Given the description of an element on the screen output the (x, y) to click on. 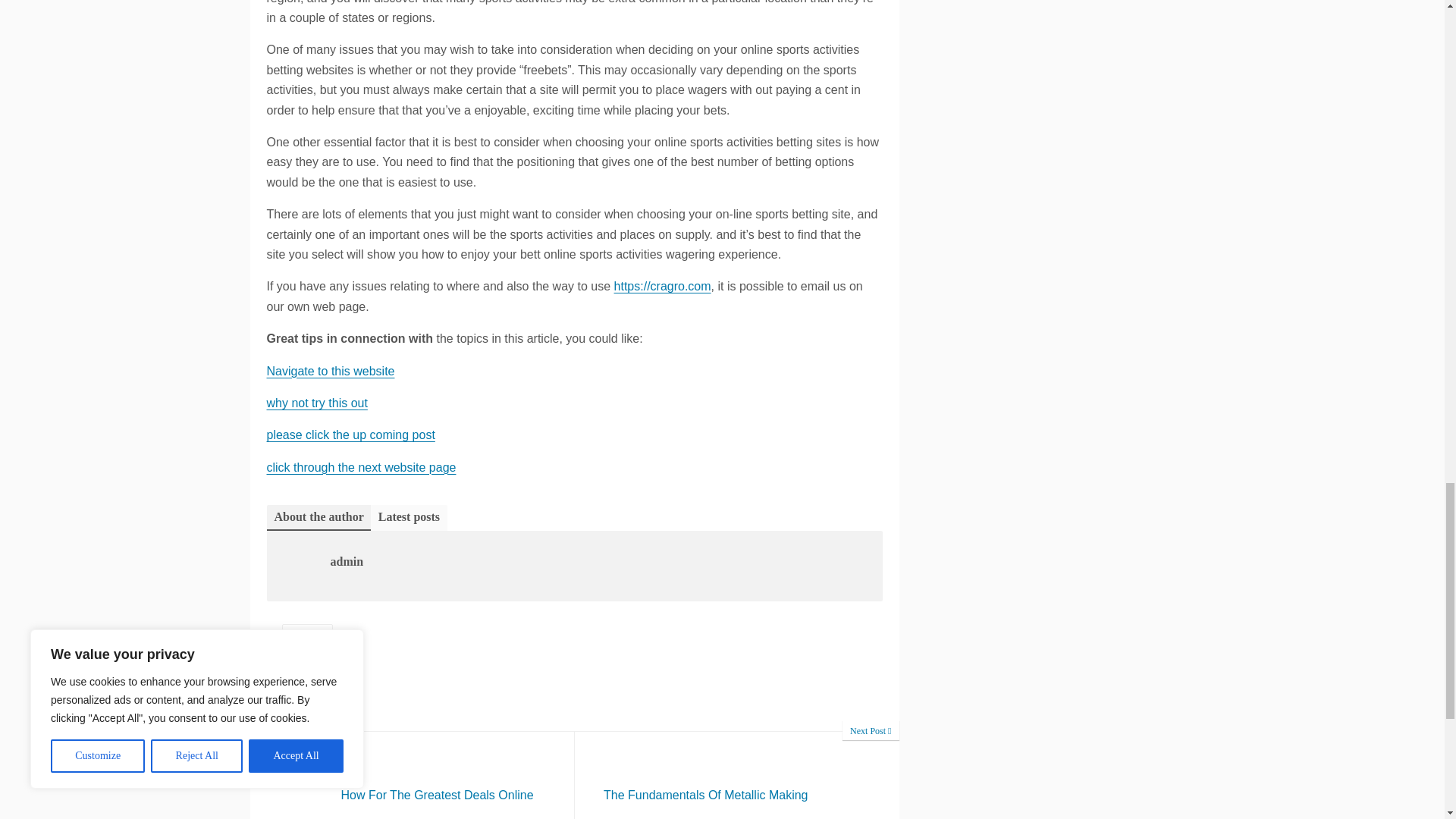
The Fundamentals Of Metallic Making (737, 775)
Navigate to this website (737, 775)
click through the next website page (330, 370)
General (361, 467)
please click the up coming post (412, 775)
How For The Greatest Deals Online (307, 637)
why not try this out (350, 434)
